Given the description of an element on the screen output the (x, y) to click on. 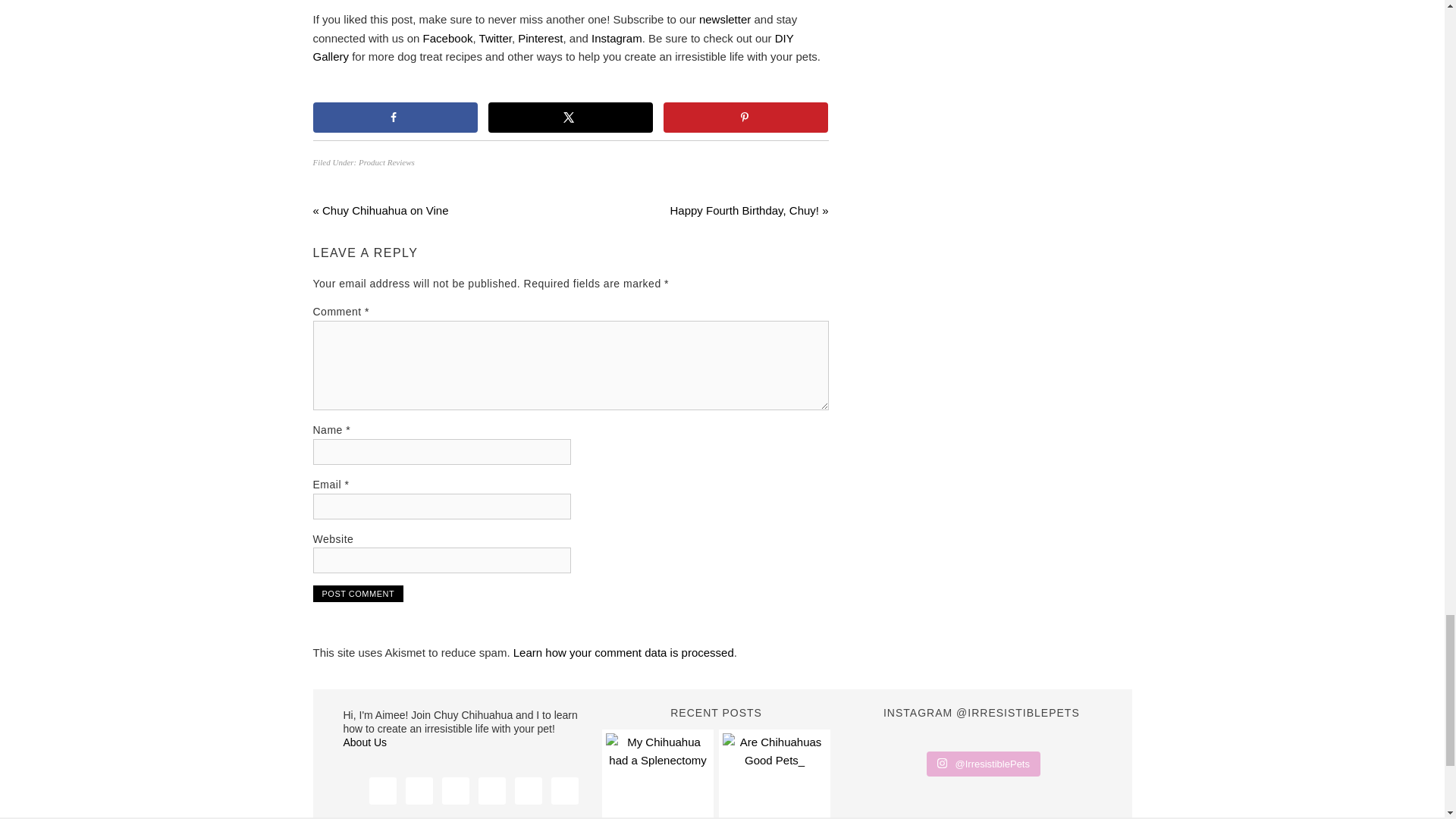
newsletter  (726, 19)
My Chihuahua Had a Splenectomy (657, 775)
Twitter (495, 38)
Product Reviews (386, 162)
Are Chihuahuas Good Pets? (773, 775)
Pinterest (540, 38)
Share on Facebook (395, 117)
Learn how your comment data is processed (623, 652)
Facebook (448, 38)
Post Comment (358, 593)
